Given the description of an element on the screen output the (x, y) to click on. 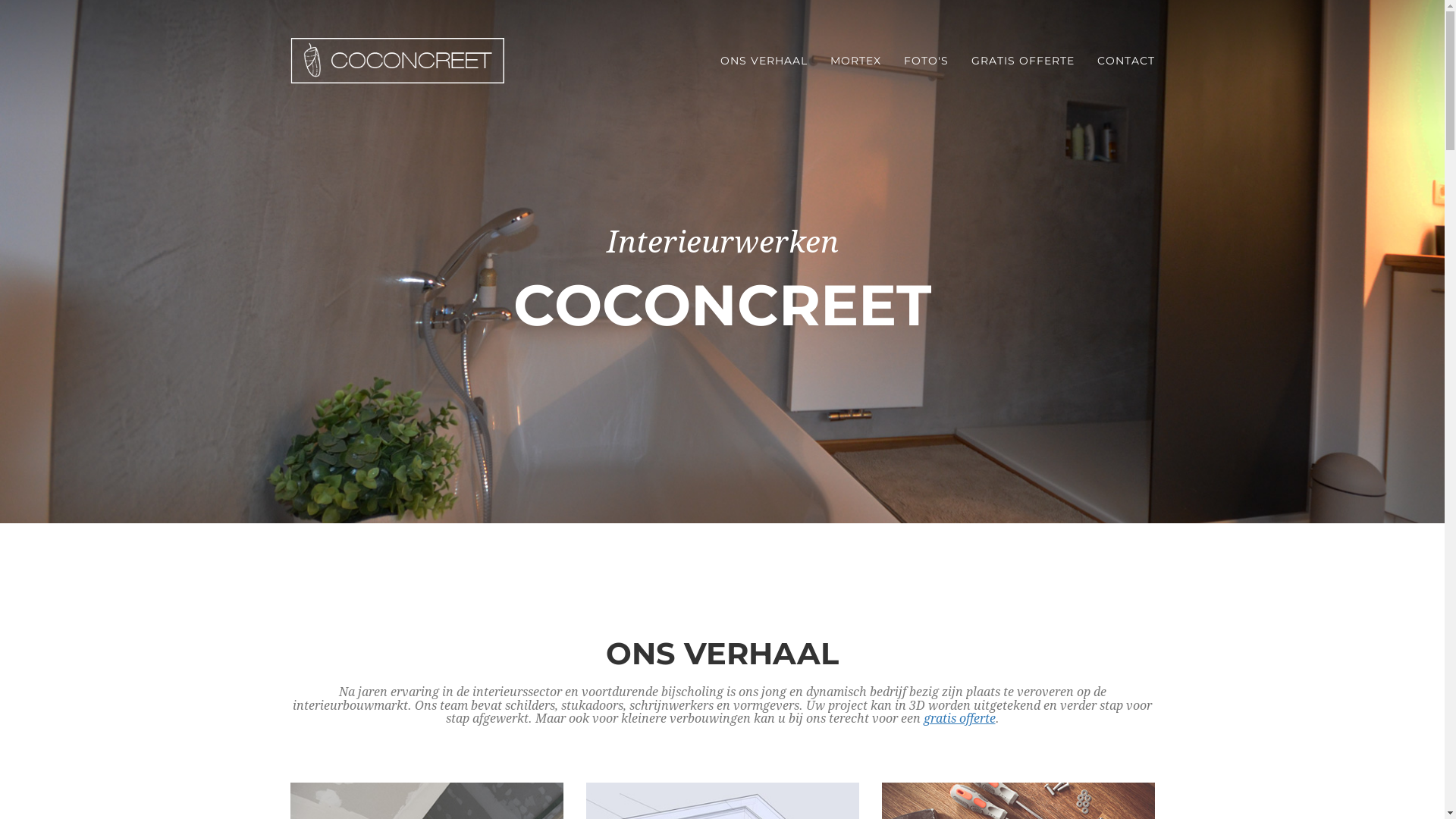
GRATIS OFFERTE Element type: text (1022, 60)
CONTACT Element type: text (1125, 60)
FOTO'S Element type: text (925, 60)
MORTEX Element type: text (855, 60)
ONS VERHAAL Element type: text (763, 60)
gratis offerte Element type: text (959, 718)
